Given the description of an element on the screen output the (x, y) to click on. 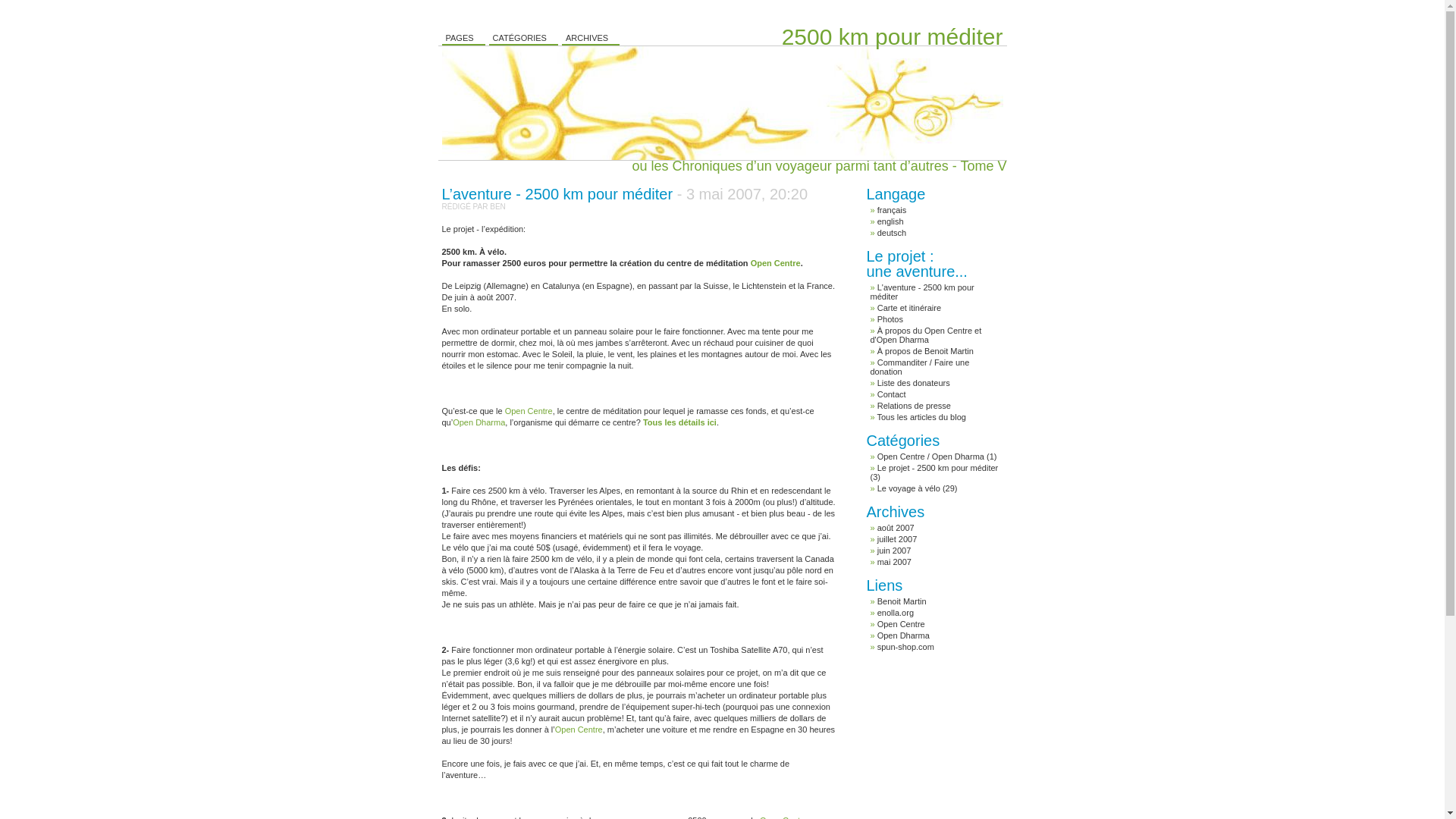
spun-shop.com Element type: text (905, 646)
mai 2007 Element type: text (894, 561)
Commanditer / Faire une donation Element type: text (919, 366)
ARCHIVES Element type: text (590, 37)
Photos Element type: text (890, 318)
juillet 2007 Element type: text (897, 538)
english Element type: text (890, 220)
Open Dharma Element type: text (478, 421)
Open Centre Element type: text (901, 623)
deutsch Element type: text (891, 232)
Open Centre Element type: text (528, 410)
PAGES Element type: text (462, 37)
enolla.org Element type: text (895, 612)
Open Centre Element type: text (775, 262)
Contact Element type: text (891, 393)
Relations de presse Element type: text (913, 405)
Open Centre / Open Dharma Element type: text (930, 456)
Benoit Martin Element type: text (901, 600)
Open Dharma Element type: text (903, 635)
Open Centre Element type: text (578, 729)
Liste des donateurs Element type: text (913, 382)
juin 2007 Element type: text (894, 550)
Tous les articles du blog Element type: text (920, 416)
